Given the description of an element on the screen output the (x, y) to click on. 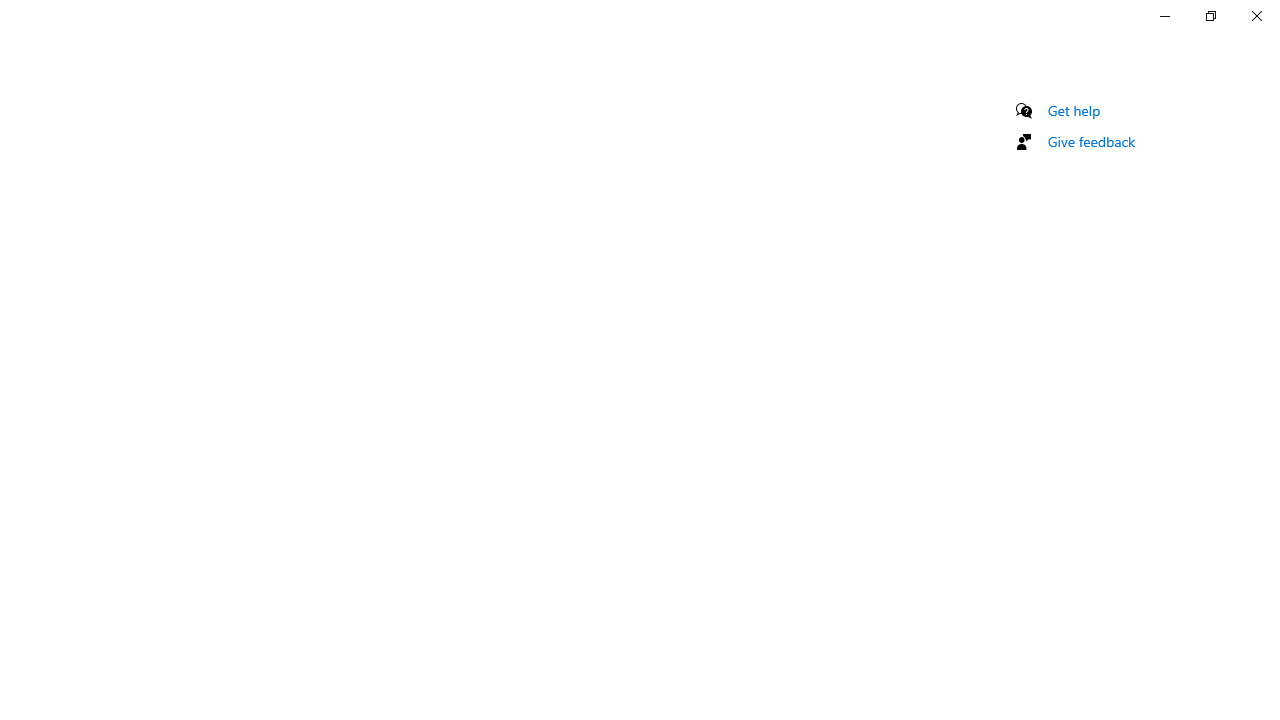
Give feedback (1091, 141)
Close Settings (1256, 15)
Restore Settings (1210, 15)
Get help (1074, 110)
Minimize Settings (1164, 15)
